Given the description of an element on the screen output the (x, y) to click on. 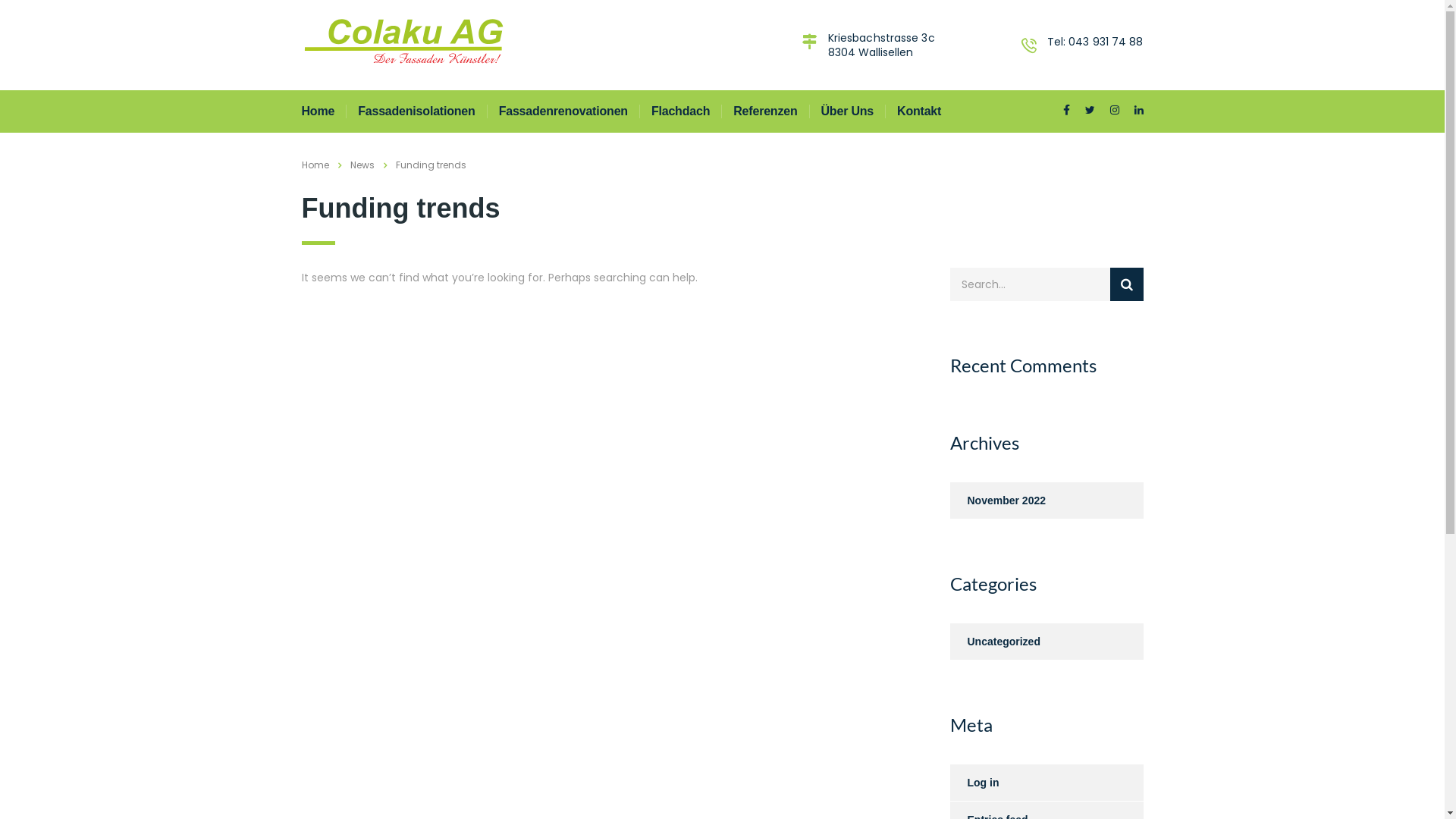
Fassadenisolationen Element type: text (415, 111)
Social item Element type: hover (1138, 111)
Social item Element type: hover (1089, 111)
Flachdach Element type: text (680, 111)
Kontakt Element type: text (918, 111)
Uncategorized Element type: text (994, 641)
Home Element type: text (317, 111)
Social item Element type: hover (1066, 111)
November 2022 Element type: text (997, 500)
Log in Element type: text (973, 782)
Social item Element type: hover (1114, 111)
Referenzen Element type: text (764, 111)
Fassadenrenovationen Element type: text (562, 111)
Home Element type: text (315, 164)
News Element type: text (362, 164)
